Given the description of an element on the screen output the (x, y) to click on. 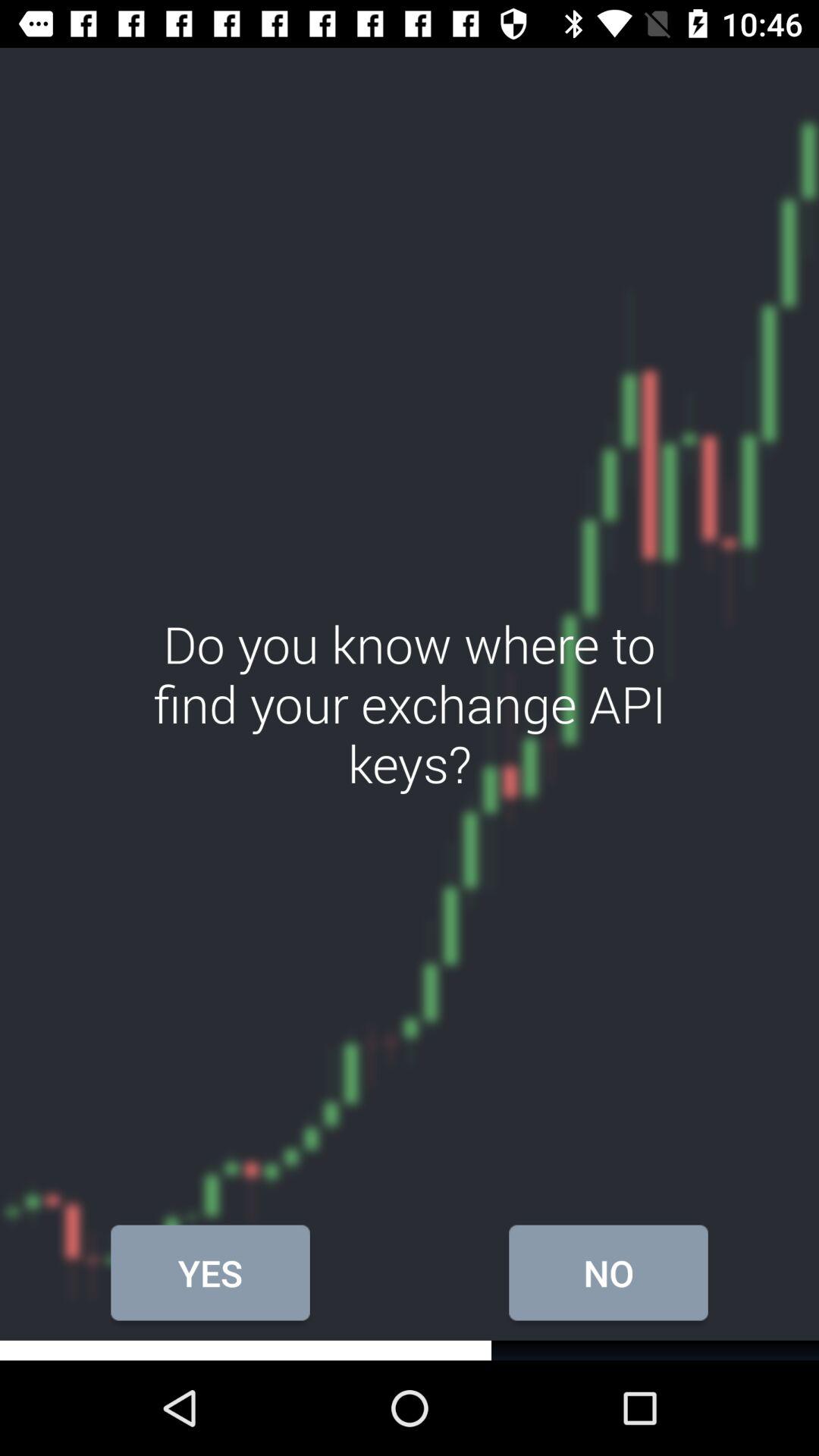
turn off icon at the bottom left corner (209, 1272)
